Given the description of an element on the screen output the (x, y) to click on. 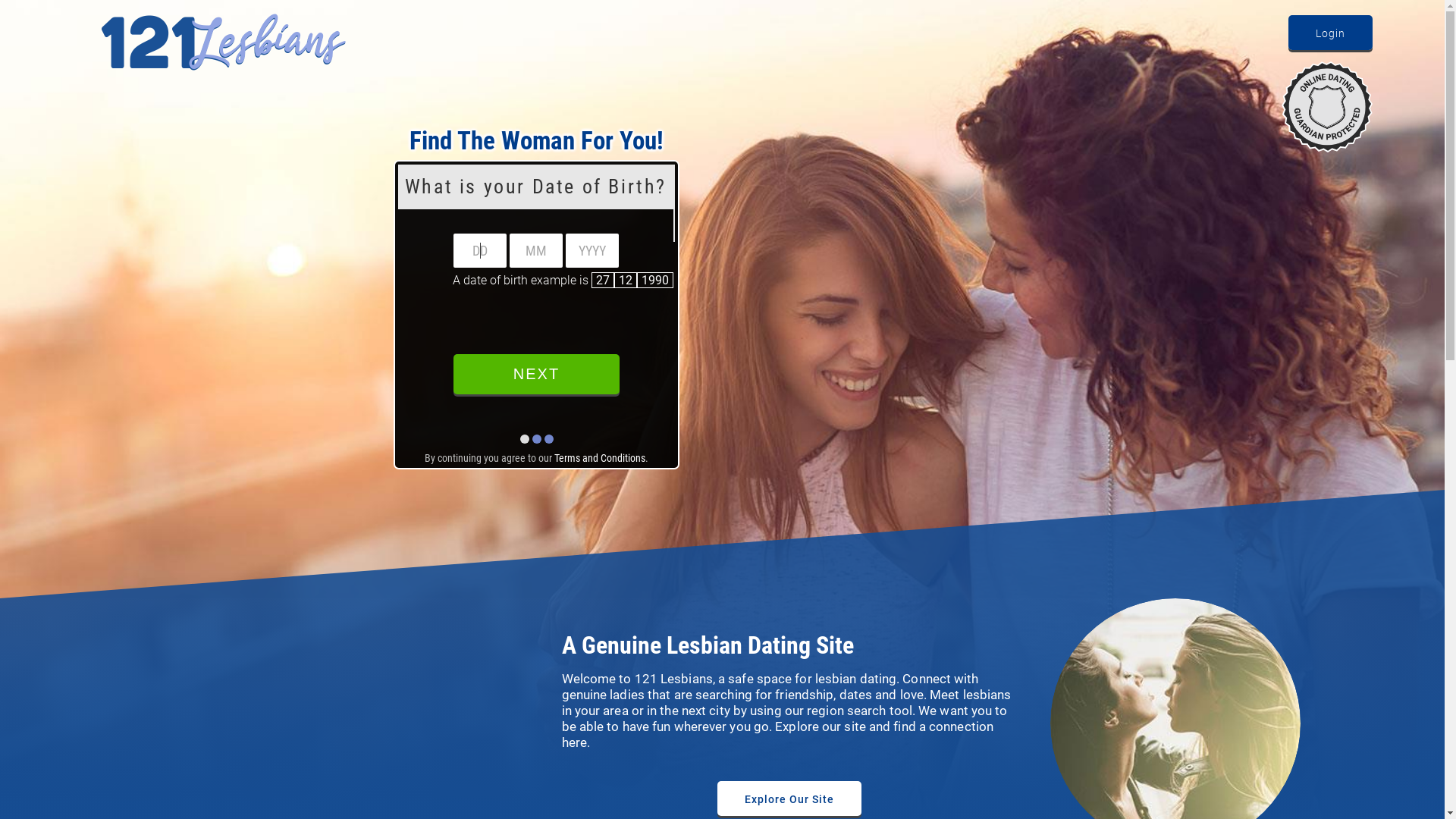
2 Element type: text (329, 238)
Login Element type: text (1330, 32)
16 Element type: text (329, 279)
Terms and Conditions Element type: text (599, 457)
1 Element type: text (191, 237)
4 Element type: text (191, 279)
Explore Our Site Element type: text (789, 798)
